Given the description of an element on the screen output the (x, y) to click on. 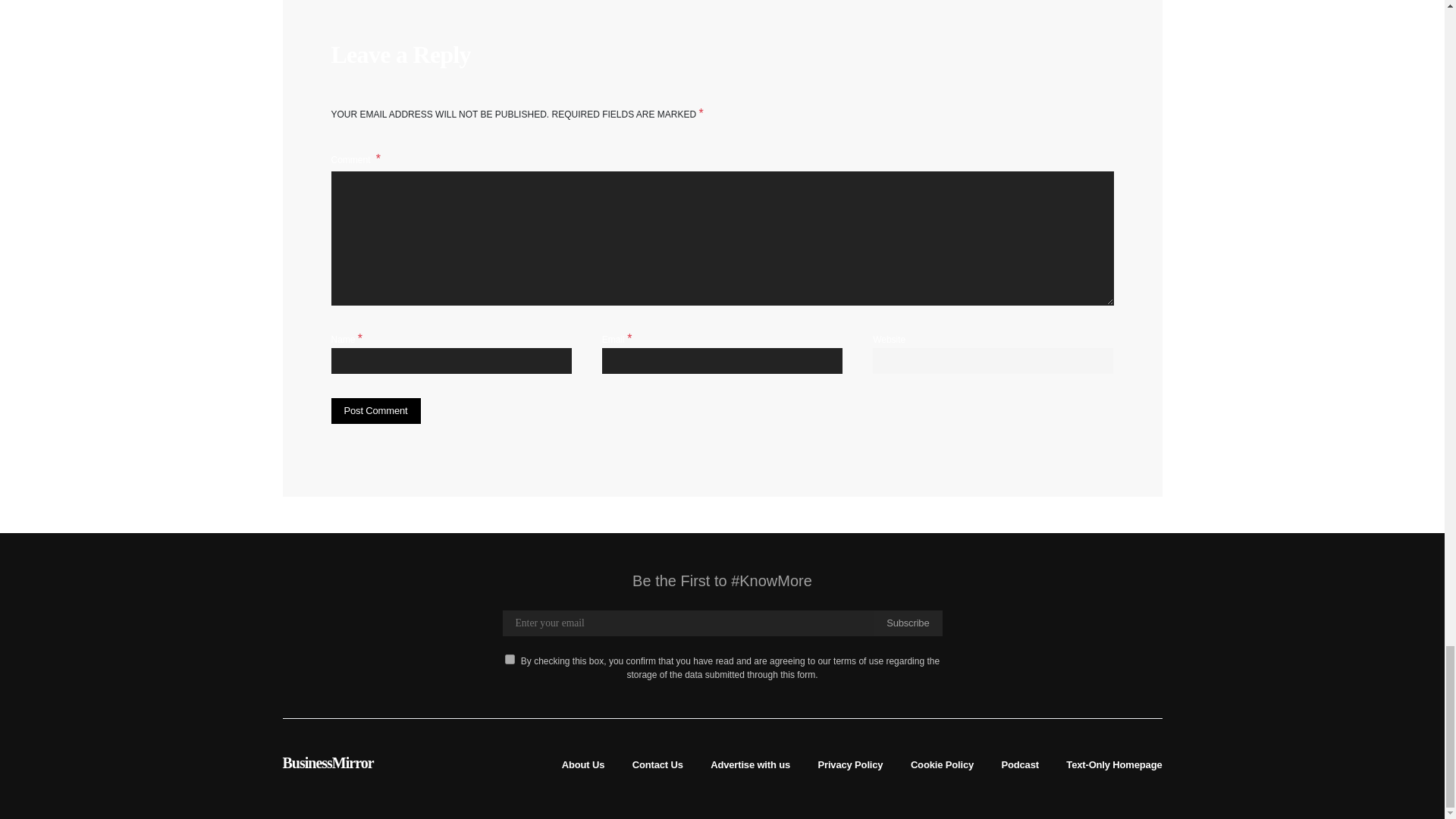
on (510, 659)
Post Comment (375, 411)
